Given the description of an element on the screen output the (x, y) to click on. 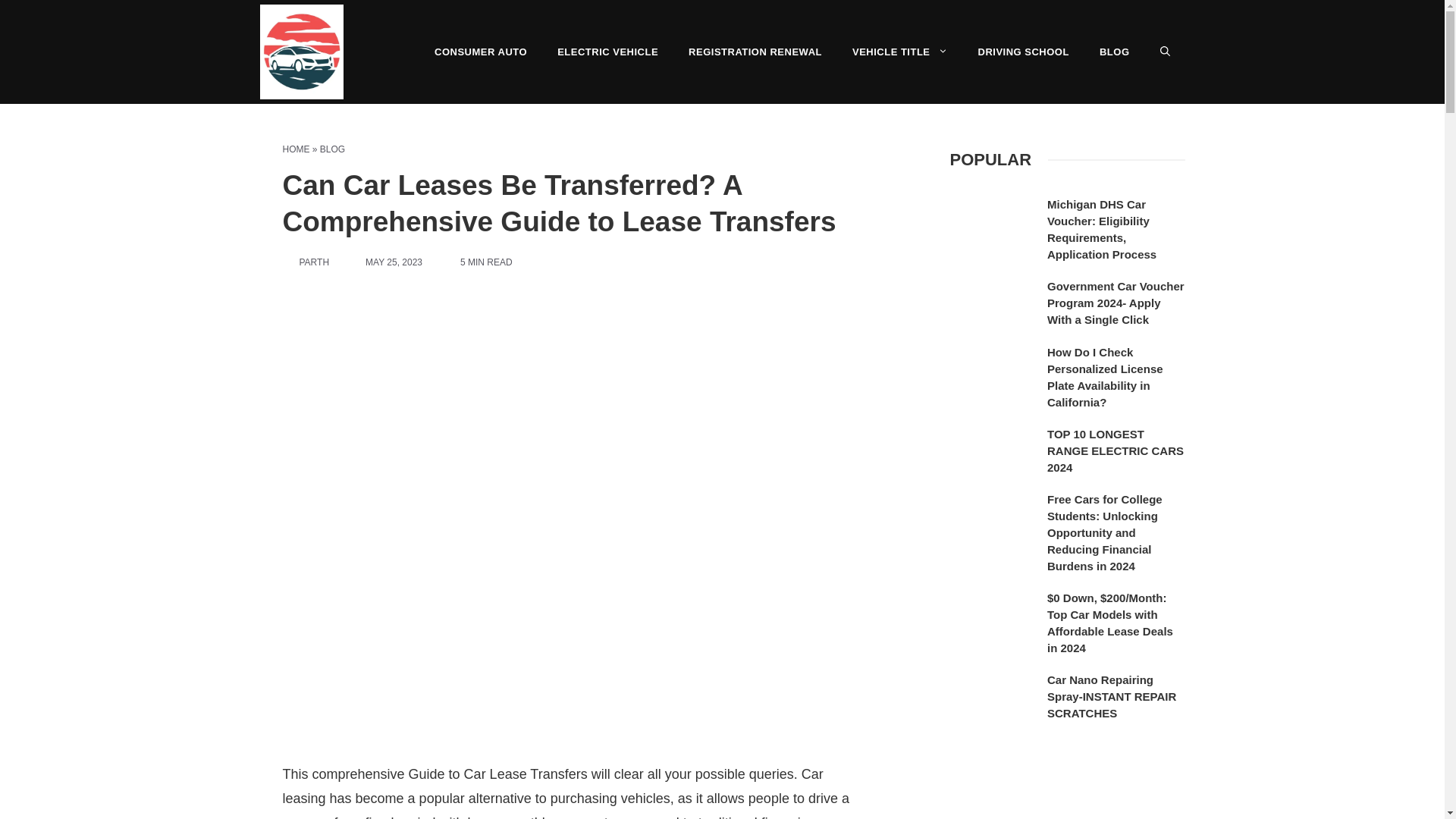
BLOG (332, 149)
BLOG (1114, 52)
HOME (295, 149)
REGISTRATION RENEWAL (754, 52)
VEHICLE TITLE (899, 52)
ELECTRIC VEHICLE (606, 52)
CONSUMER AUTO (480, 52)
DRIVING SCHOOL (1023, 52)
View all posts by Parth (313, 262)
PARTH (313, 262)
